Given the description of an element on the screen output the (x, y) to click on. 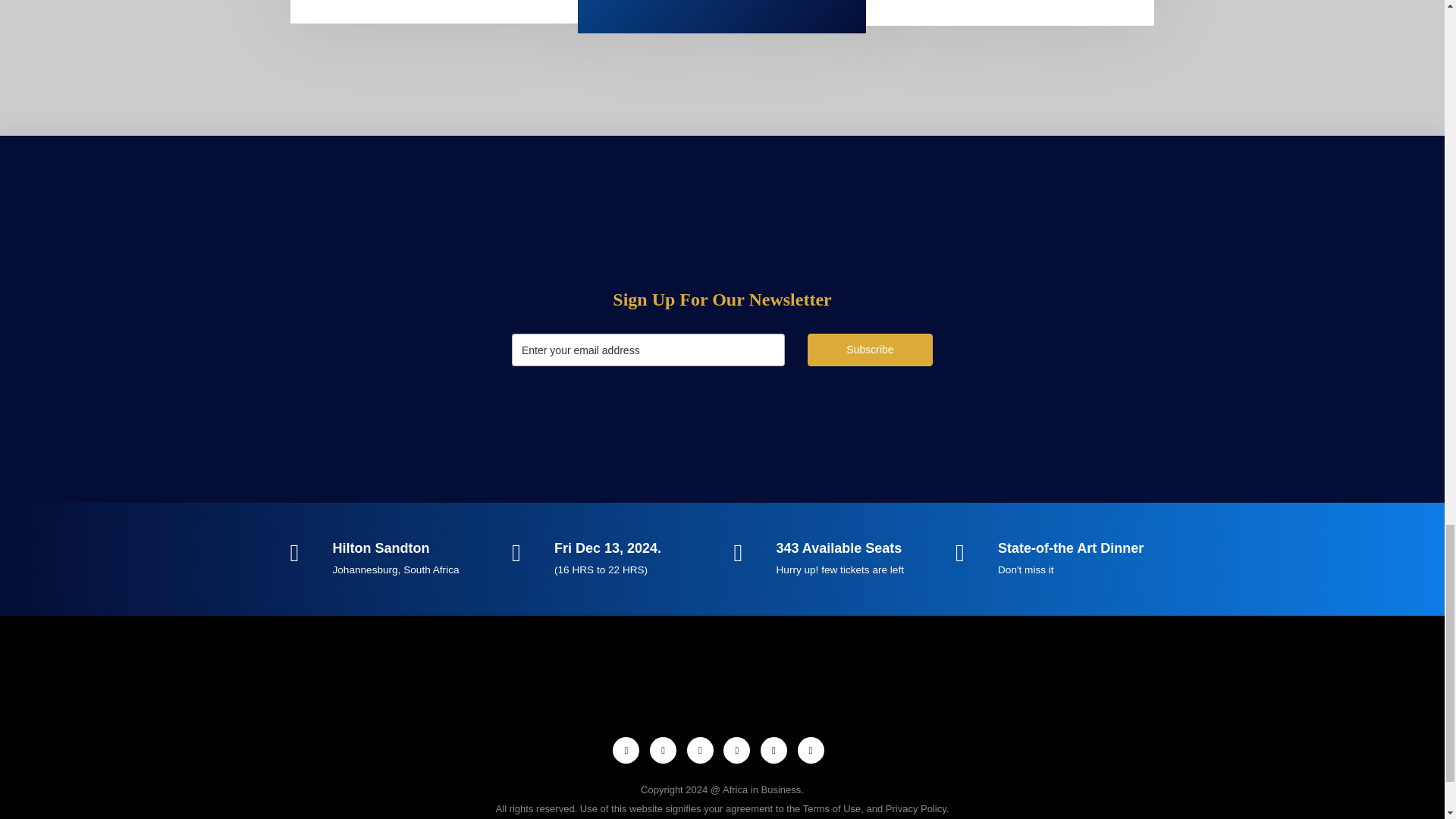
Subscribe (870, 349)
